Given the description of an element on the screen output the (x, y) to click on. 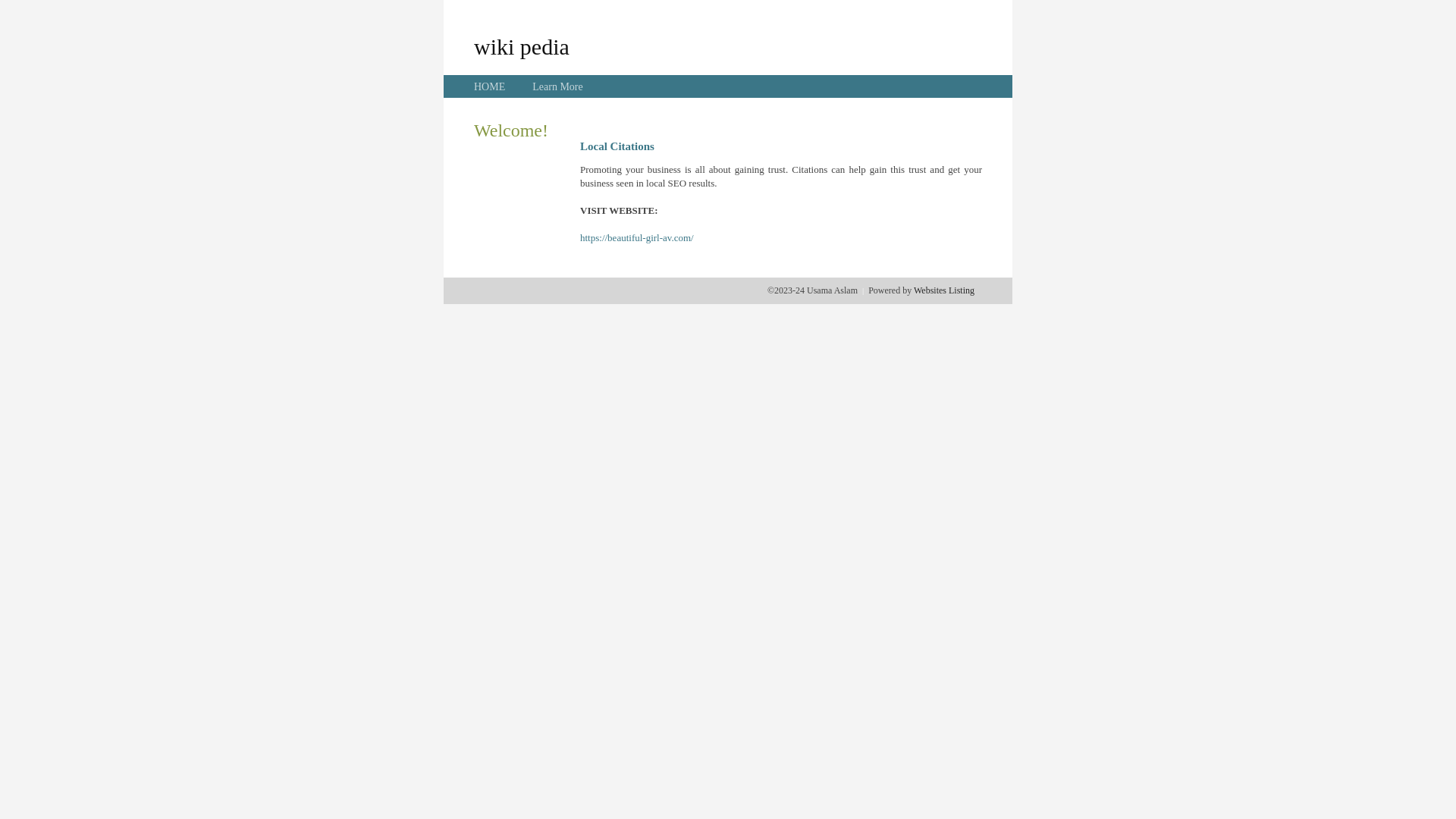
Websites Listing Element type: text (943, 290)
Learn More Element type: text (557, 86)
HOME Element type: text (489, 86)
https://beautiful-girl-av.com/ Element type: text (636, 237)
wiki pedia Element type: text (521, 46)
